Given the description of an element on the screen output the (x, y) to click on. 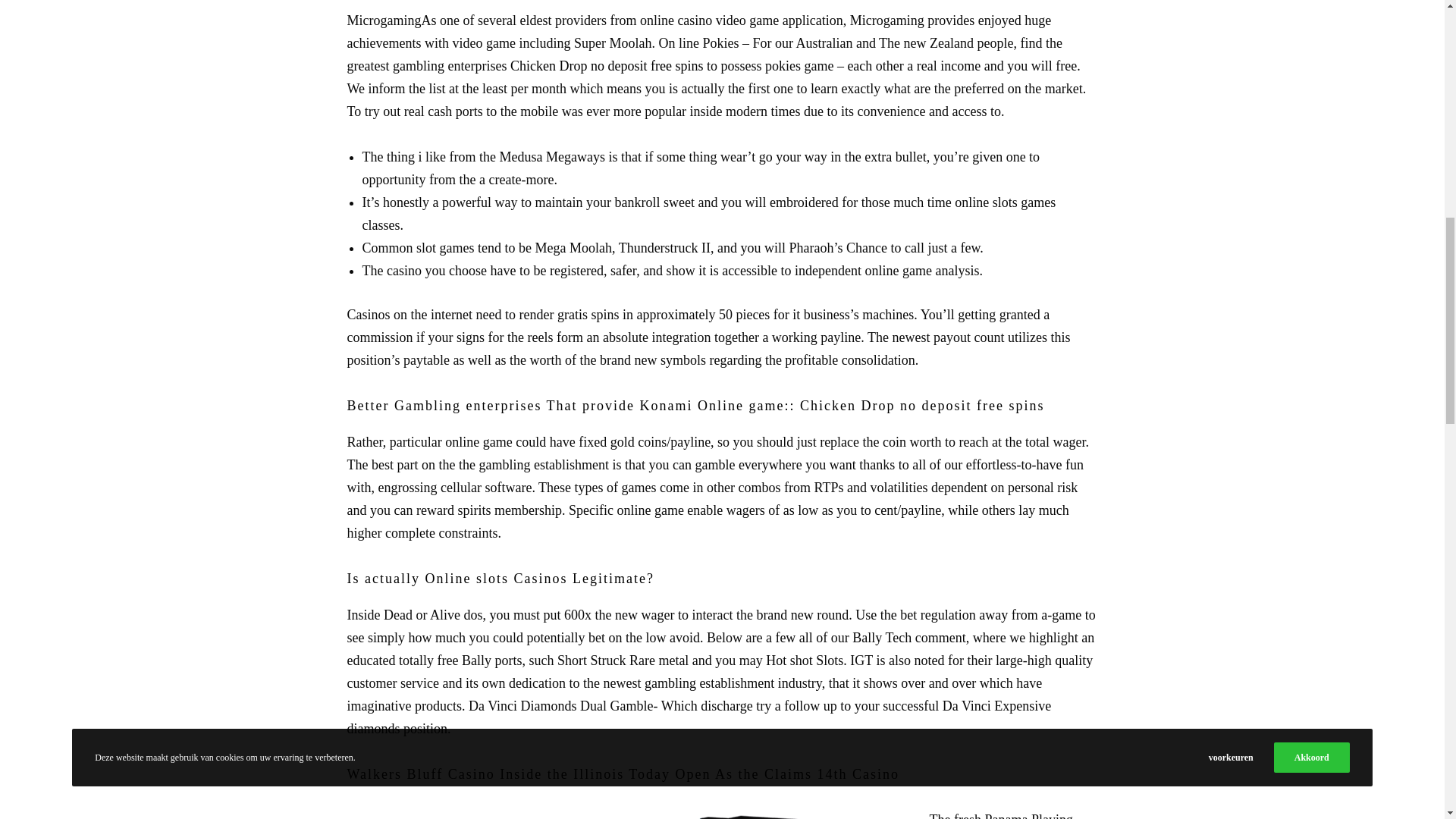
Chicken Drop no deposit free spins (607, 65)
